Given the description of an element on the screen output the (x, y) to click on. 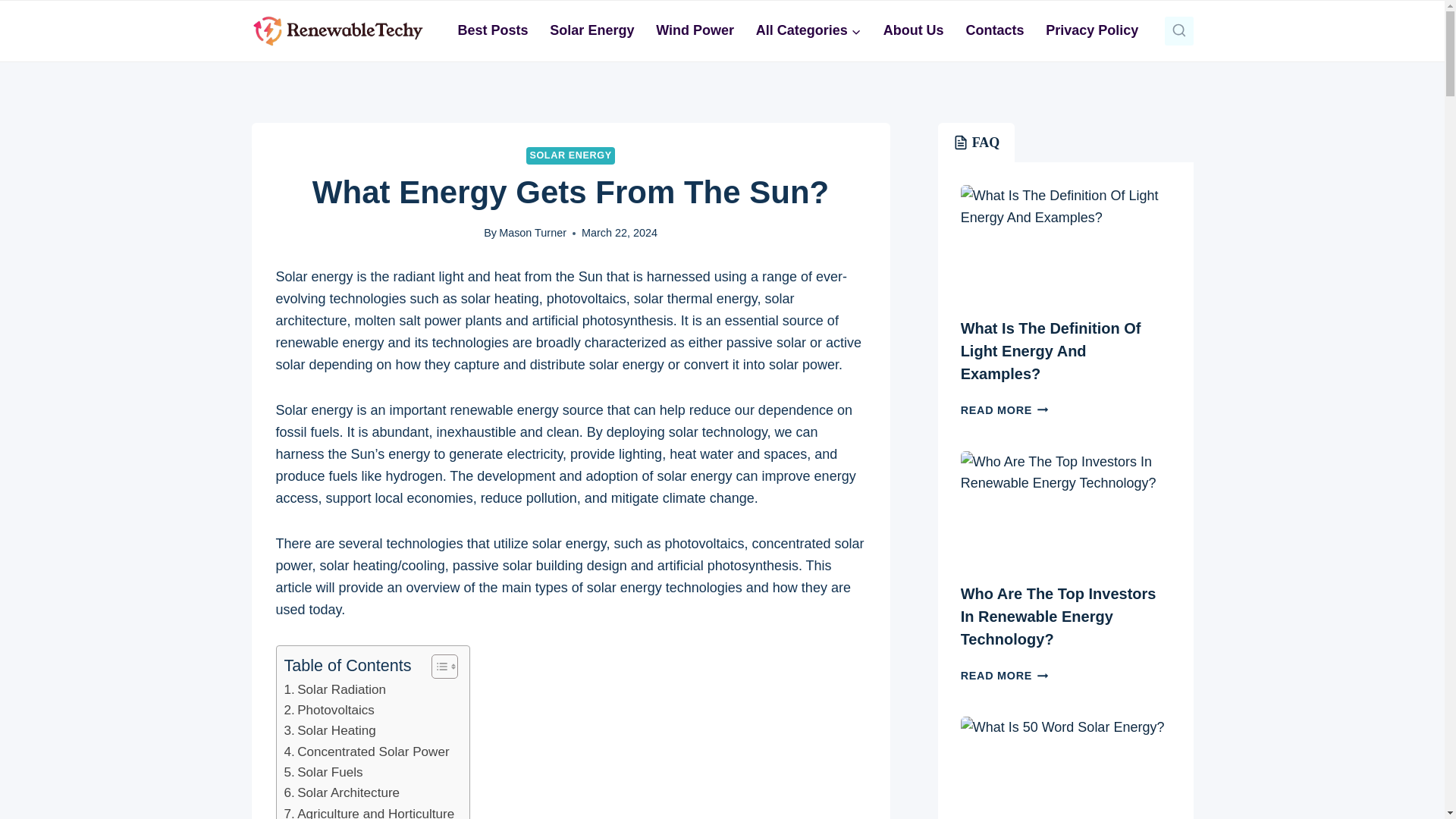
About Us (913, 30)
Best Posts (492, 30)
Wind Power (695, 30)
Solar Architecture (340, 792)
Solar Radiation (334, 689)
Photovoltaics (328, 710)
Solar Architecture (340, 792)
Solar Radiation (334, 689)
All Categories (808, 30)
Solar Fuels (322, 772)
